Given the description of an element on the screen output the (x, y) to click on. 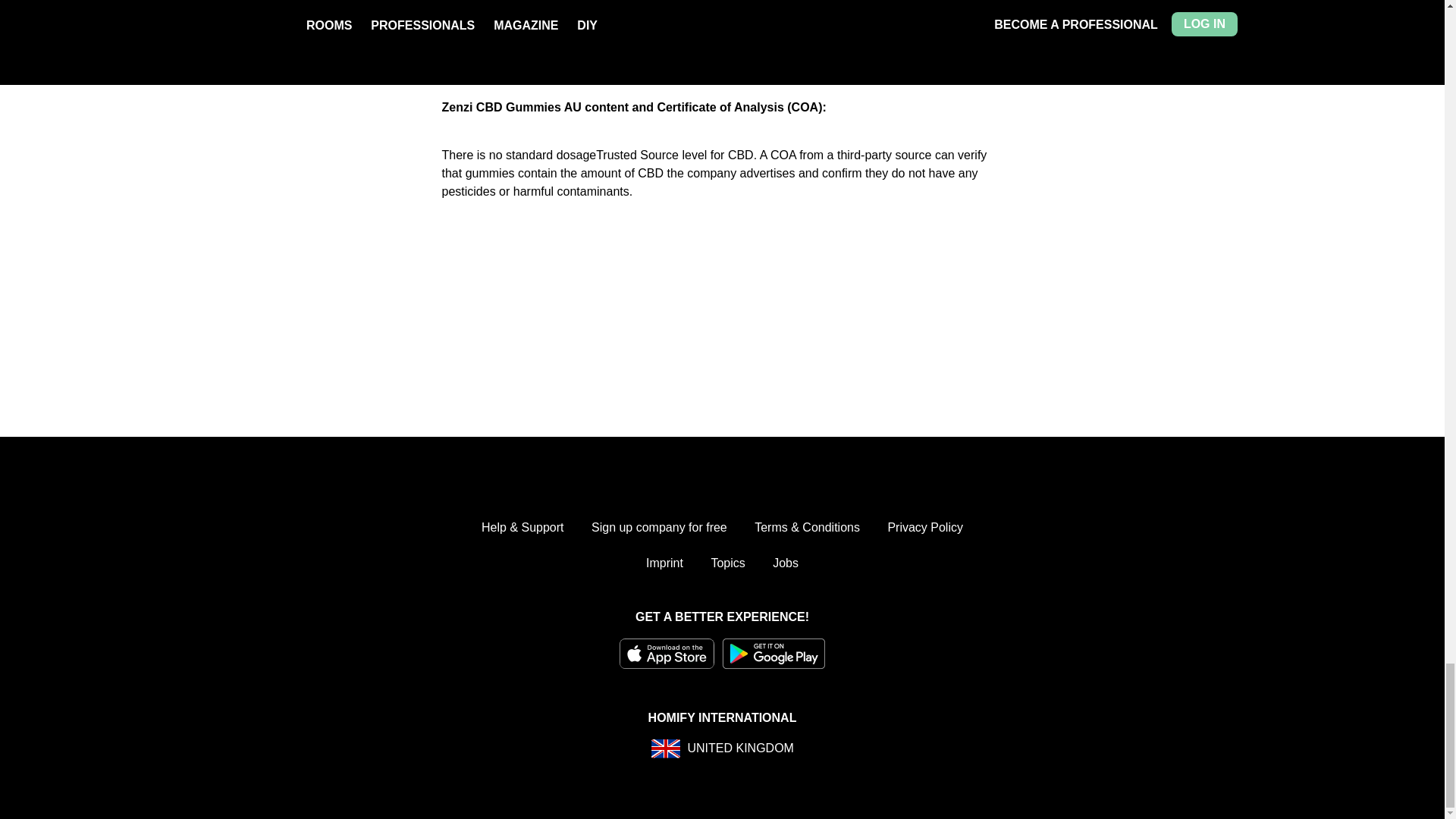
Sign up company for free (658, 527)
Jobs (785, 563)
Imprint (664, 563)
Topics (727, 563)
Privacy Policy (924, 527)
